Given the description of an element on the screen output the (x, y) to click on. 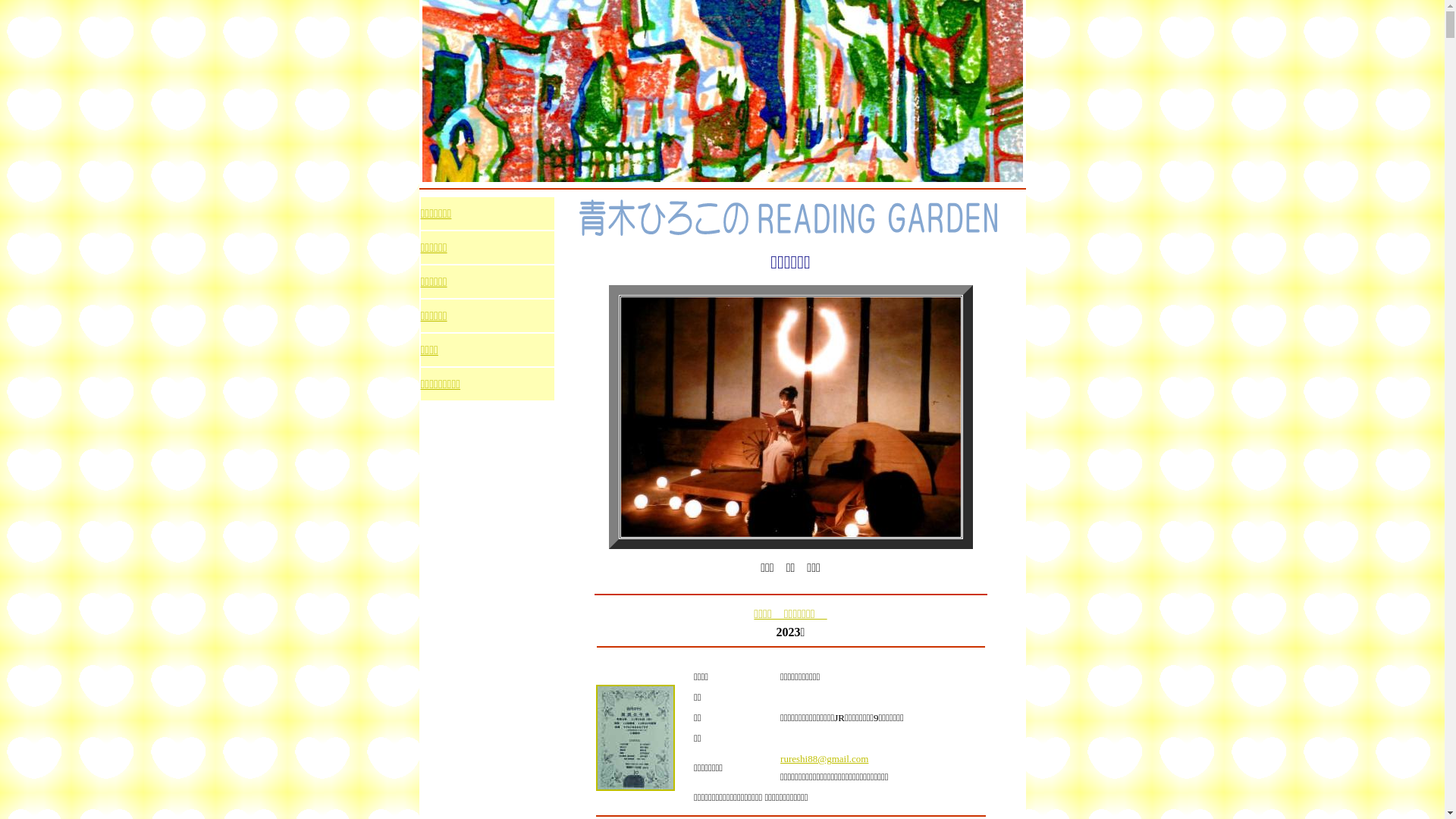
rureshi88@gmail.com Element type: text (824, 758)
